Given the description of an element on the screen output the (x, y) to click on. 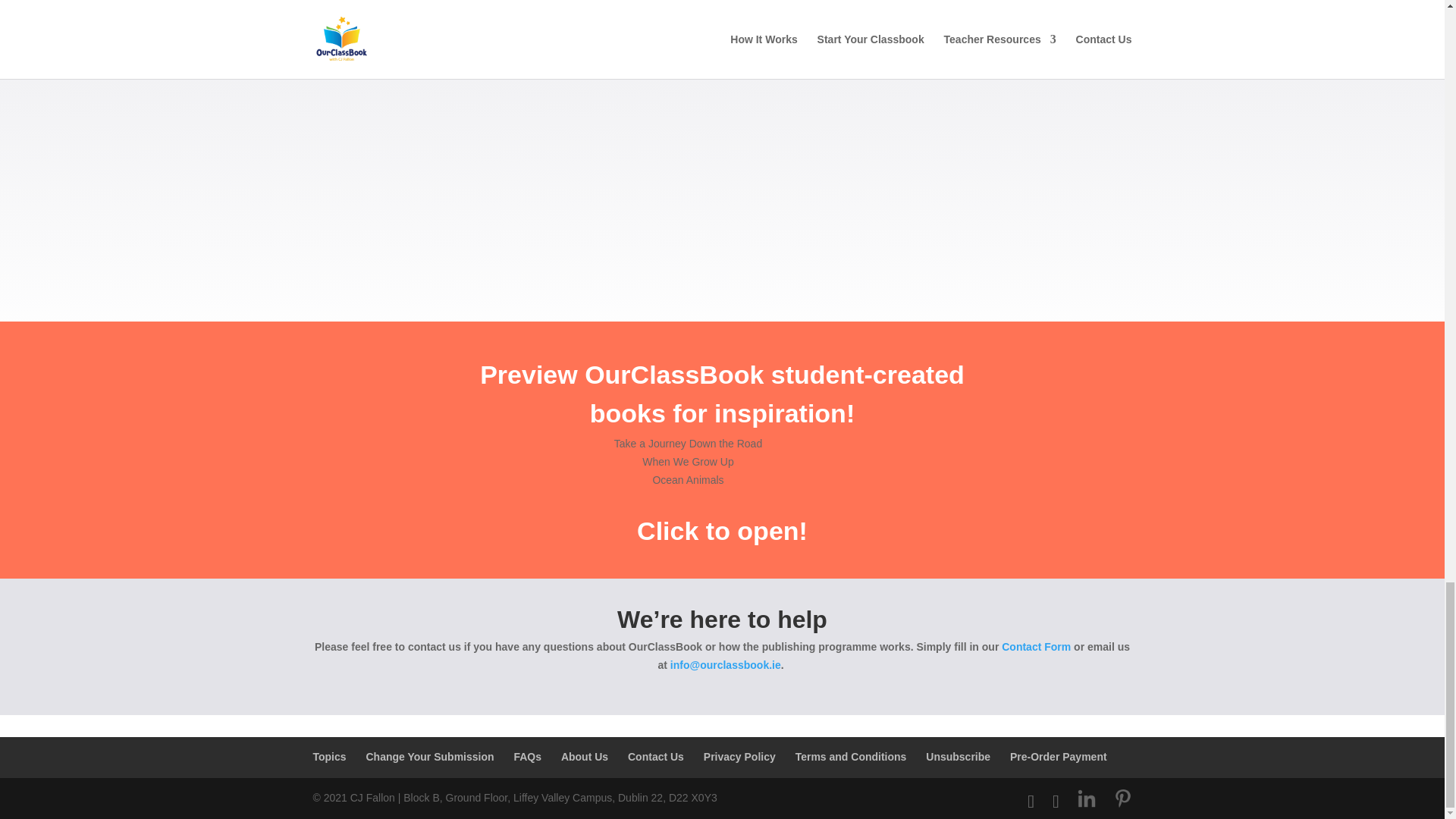
Contact Us (655, 756)
Privacy Policy (739, 756)
Topics (329, 756)
Contact Form (1035, 646)
About Us (584, 756)
FAQs (527, 756)
Terms and Conditions (850, 756)
Pre-Order Payment (1058, 756)
Unsubscribe (958, 756)
Change Your Submission (429, 756)
